Given the description of an element on the screen output the (x, y) to click on. 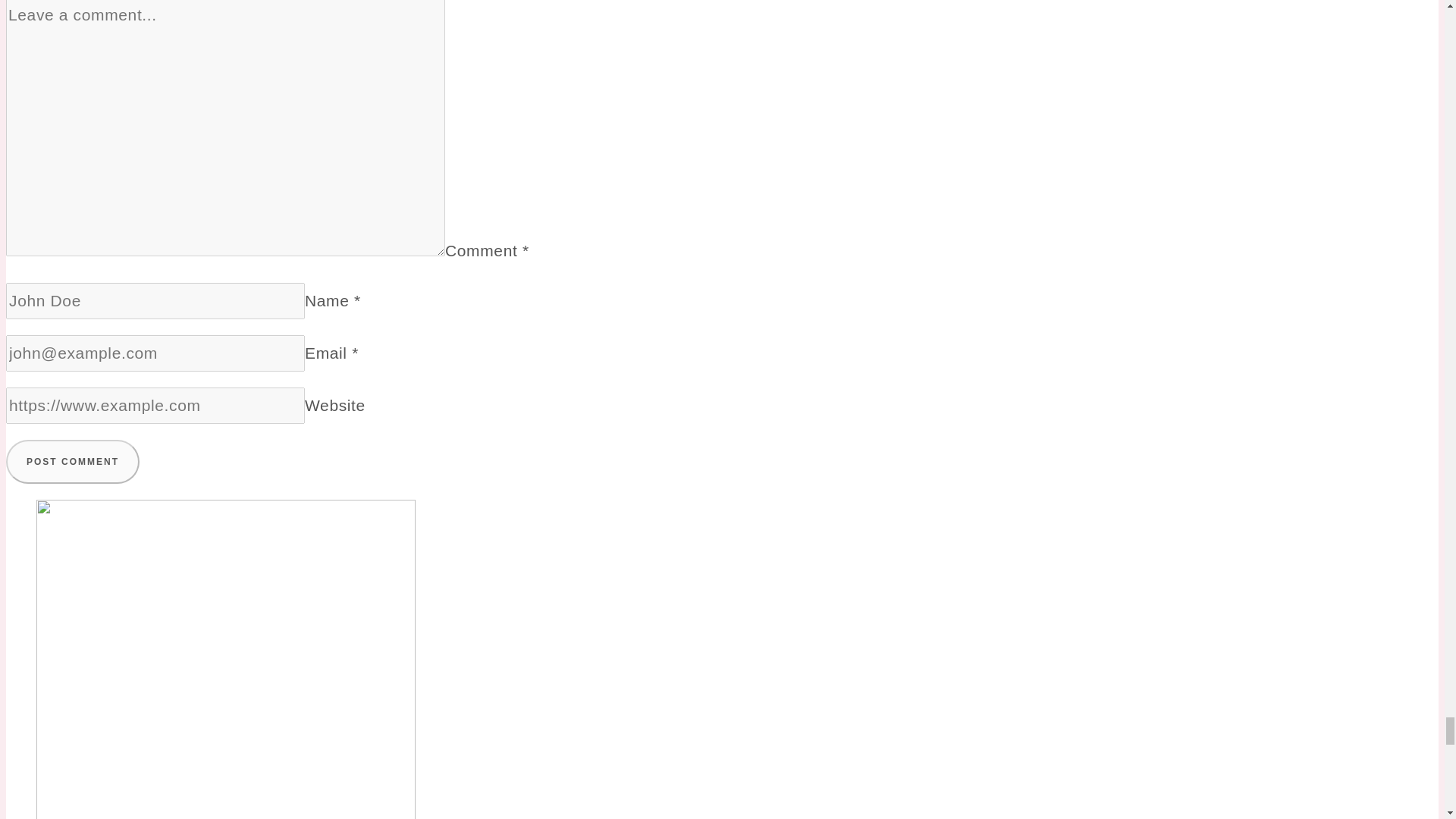
Post Comment (72, 461)
